Given the description of an element on the screen output the (x, y) to click on. 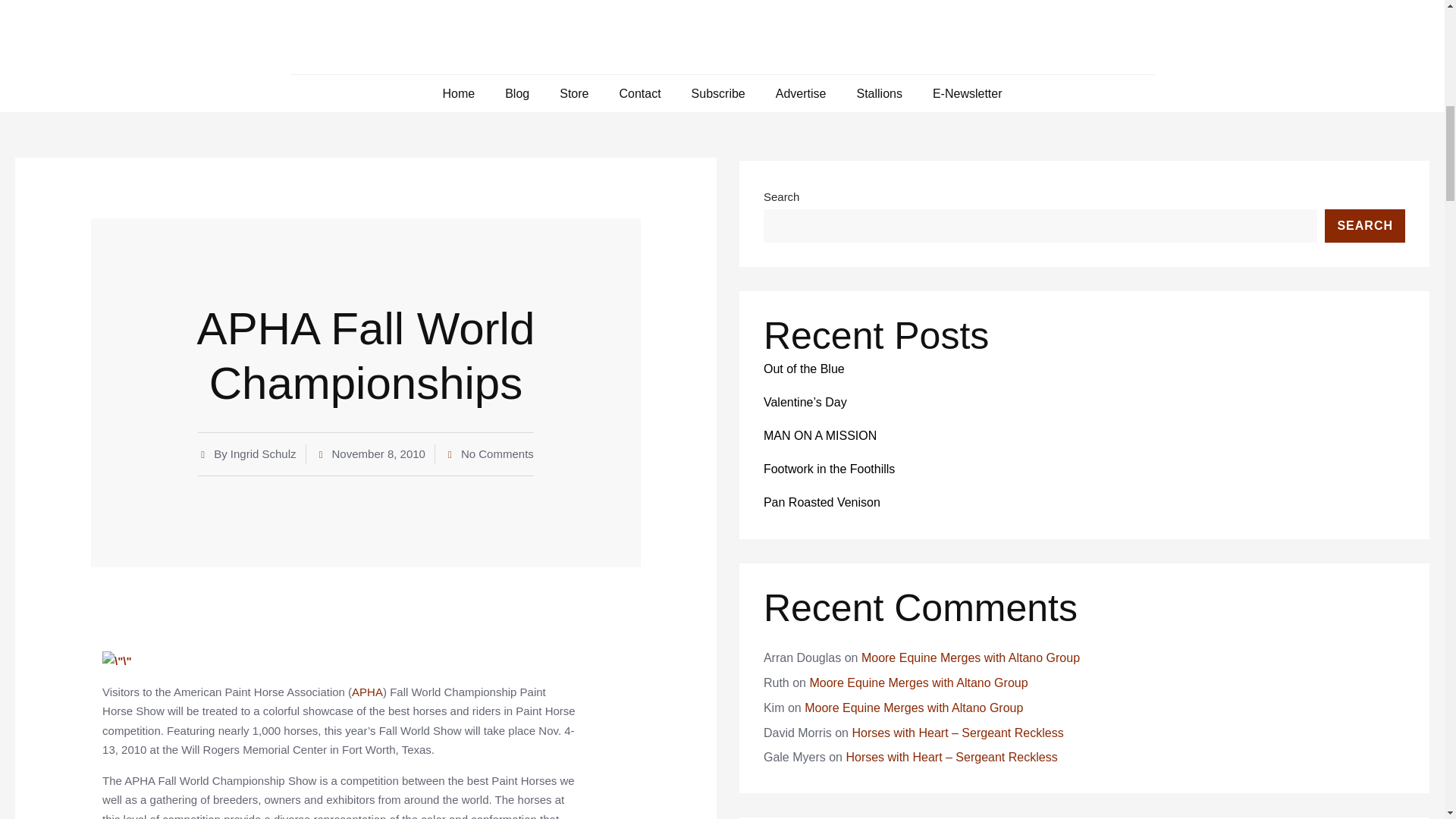
Home (458, 93)
Contact (639, 93)
E-Newsletter (968, 93)
Blog (517, 93)
Stallions (878, 93)
November 8, 2010 (370, 454)
Store (573, 93)
Advertise (801, 93)
No Comments (489, 454)
By Ingrid Schulz (246, 454)
